Given the description of an element on the screen output the (x, y) to click on. 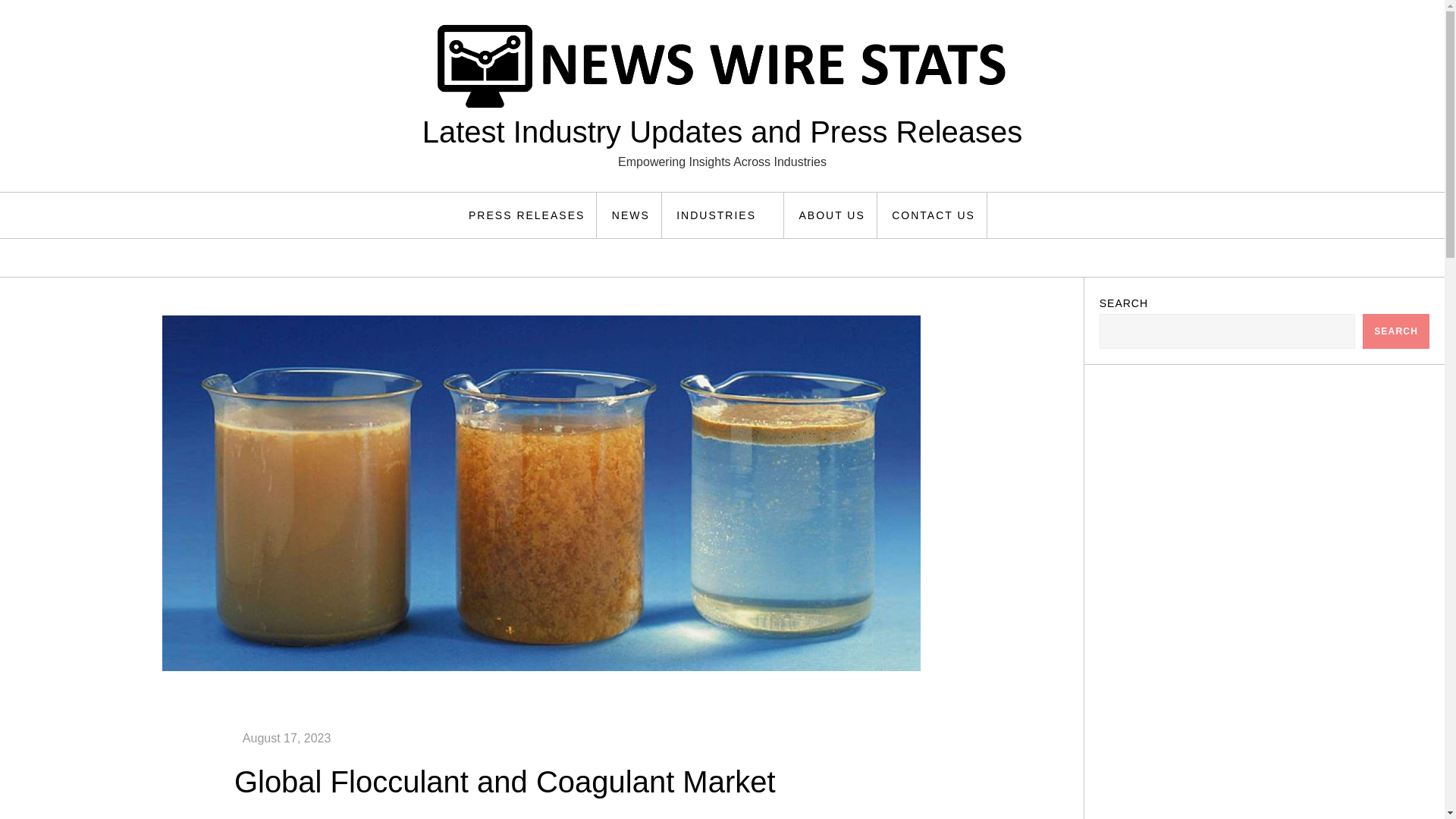
INDUSTRIES (724, 215)
Latest Industry Updates and Press Releases (722, 131)
ABOUT US (831, 215)
PRESS RELEASES (526, 215)
CONTACT US (933, 215)
August 17, 2023 (287, 738)
NEWS (630, 215)
SEARCH (1395, 330)
